Given the description of an element on the screen output the (x, y) to click on. 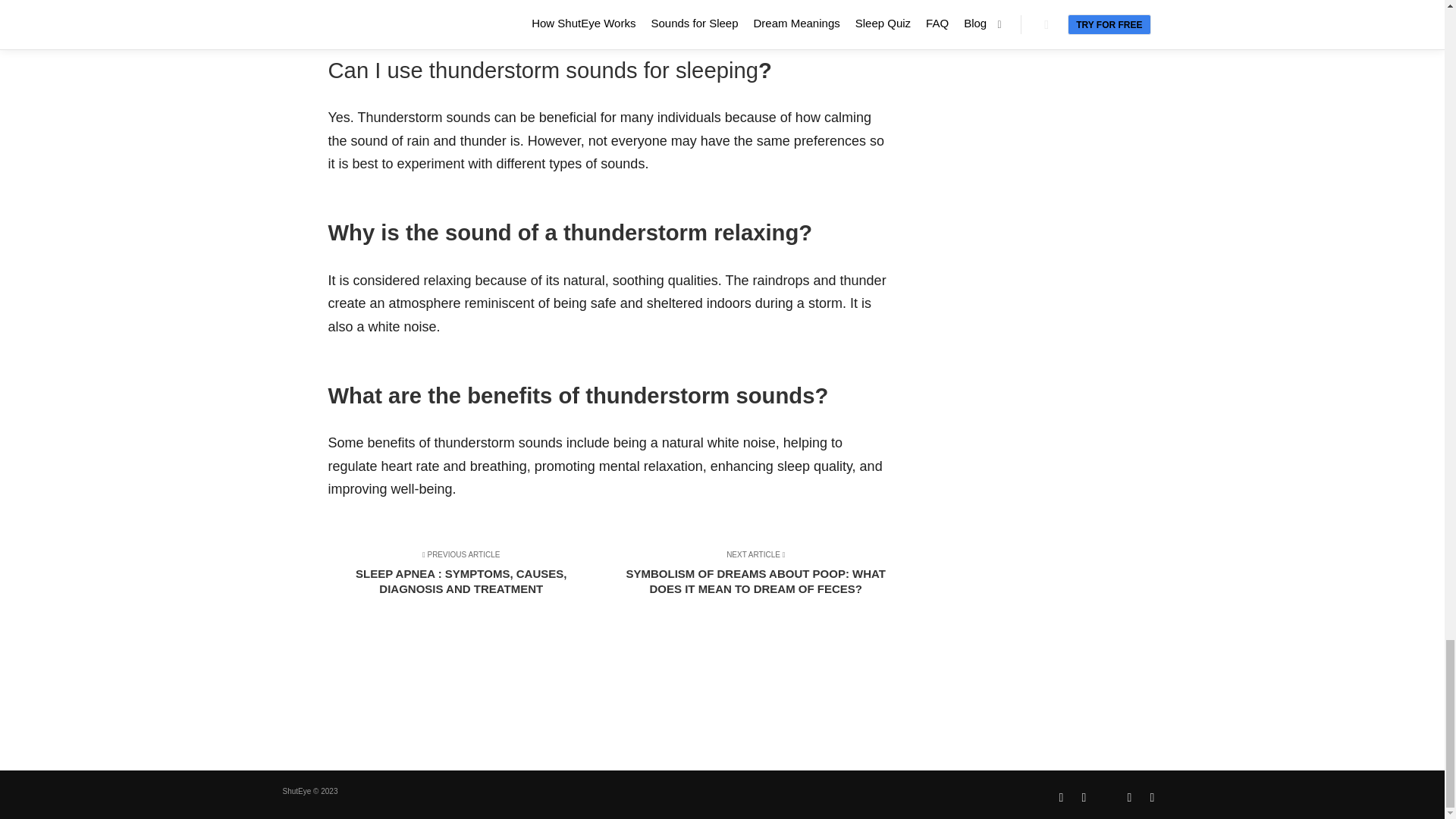
YouTube (1151, 797)
Facebook Messenger (1106, 791)
Twitter (1128, 797)
Facebook (1060, 797)
Instagram (1083, 797)
